Given the description of an element on the screen output the (x, y) to click on. 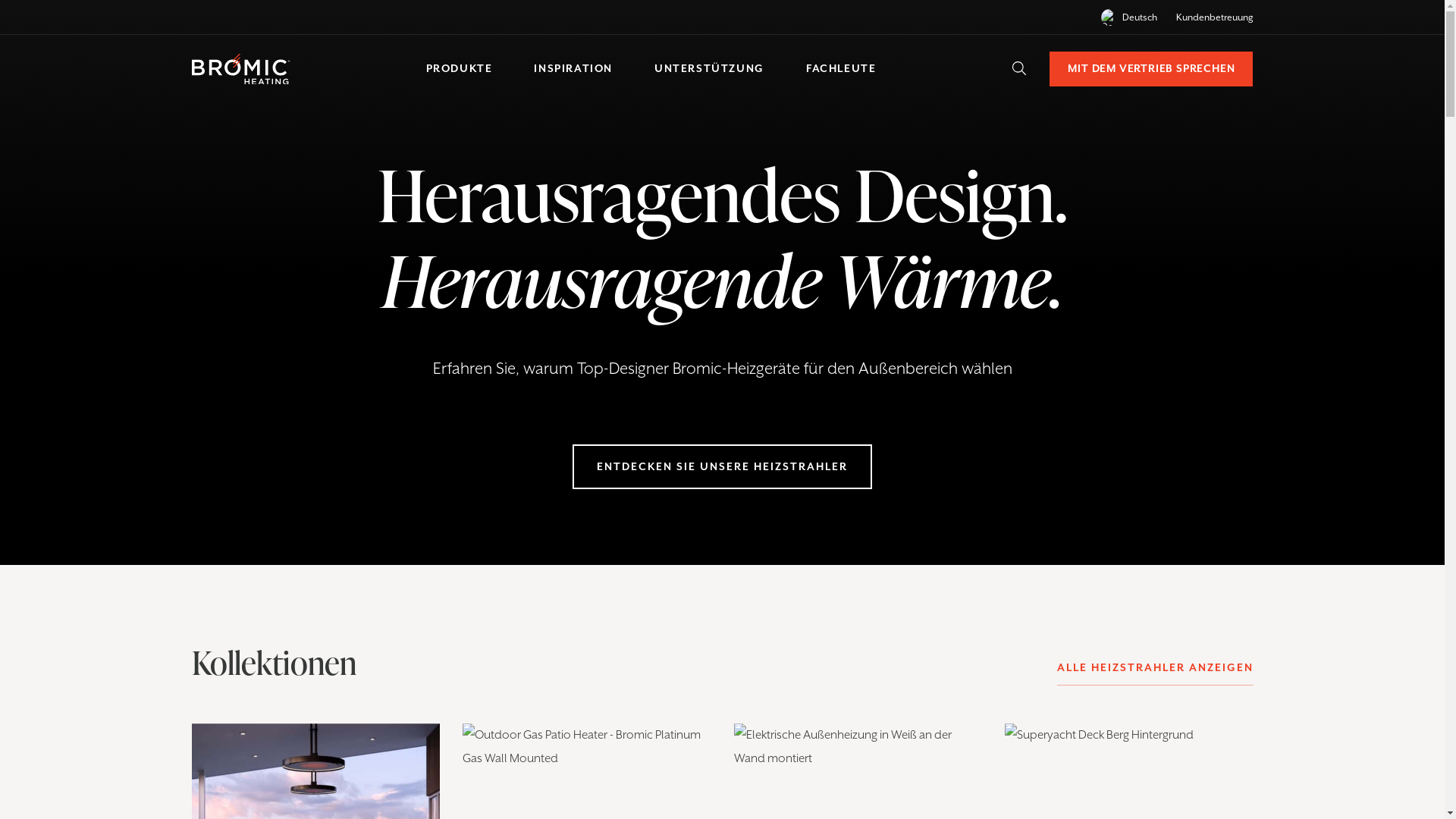
INSPIRATION Element type: text (572, 68)
PRODUKTE Element type: text (459, 68)
Kundenbetreuung Element type: text (1213, 17)
MIT DEM VERTRIEB SPRECHEN Element type: text (1150, 68)
FACHLEUTE Element type: text (840, 68)
ENTDECKEN SIE UNSERE HEIZSTRAHLER Element type: text (722, 466)
ALLE HEIZSTRAHLER ANZEIGEN Element type: text (1155, 666)
